Given the description of an element on the screen output the (x, y) to click on. 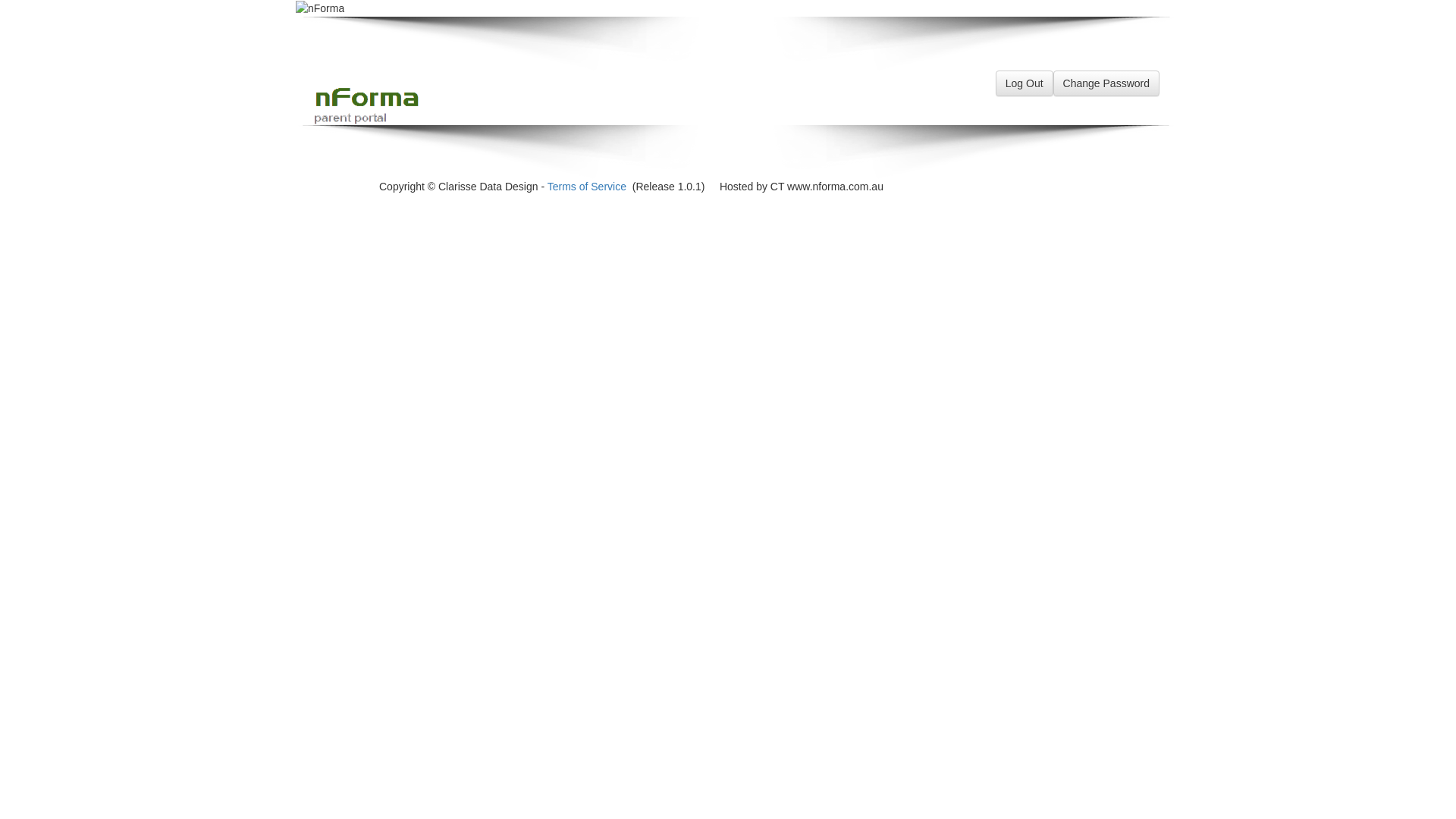
Log Out Element type: text (1024, 83)
Terms of Service Element type: text (586, 186)
Change Password Element type: text (1106, 83)
